Given the description of an element on the screen output the (x, y) to click on. 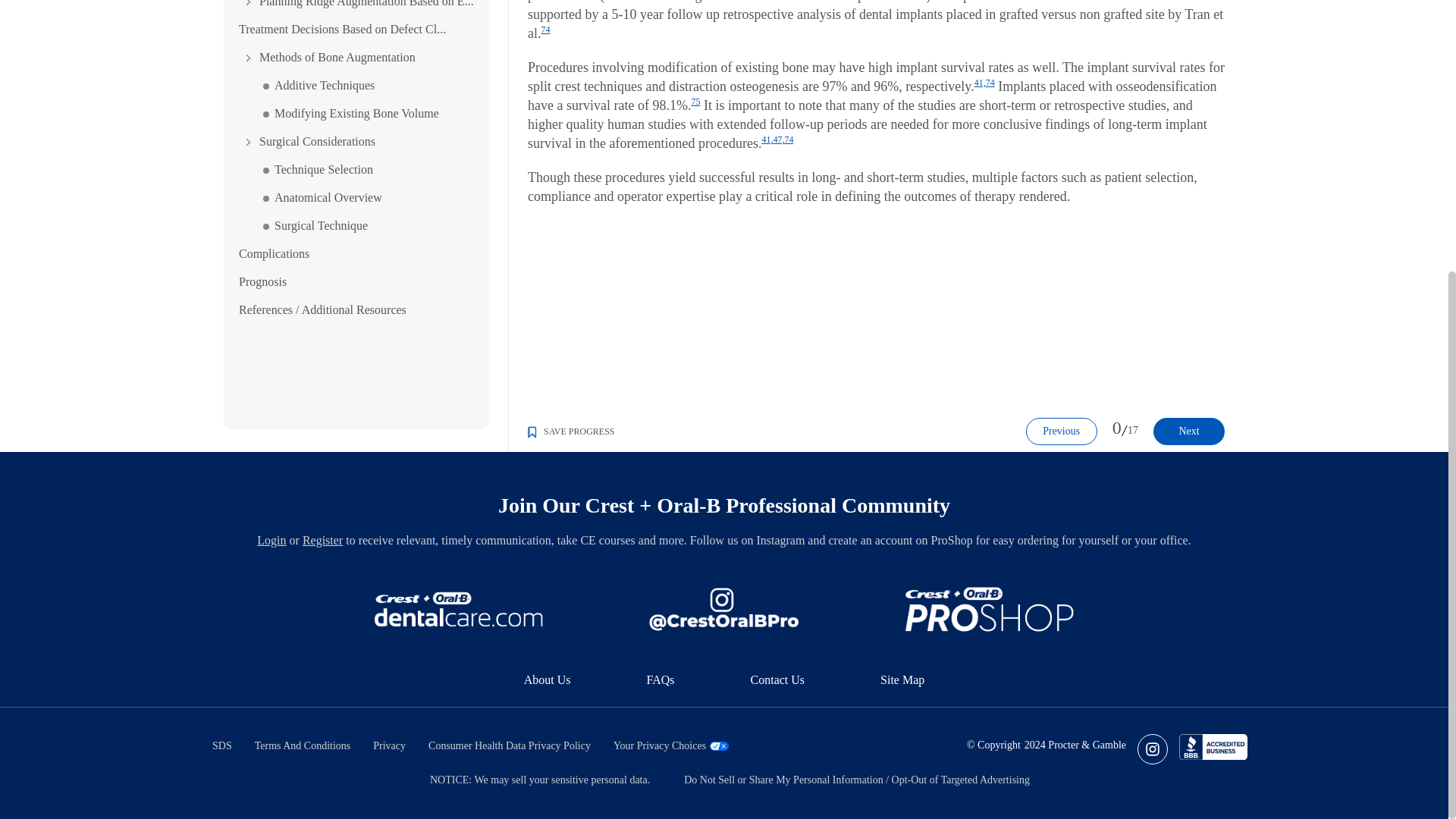
Treatment Decisions Based on Defect Cl... (341, 6)
Modifying Existing Bone Volume (346, 90)
Surgical Considerations (306, 118)
Additive Techniques (313, 62)
Anatomical Overview (317, 175)
Surgical Technique (310, 202)
Prognosis (262, 258)
Methods of Bone Augmentation (326, 34)
Technique Selection (312, 146)
Complications (273, 230)
